Given the description of an element on the screen output the (x, y) to click on. 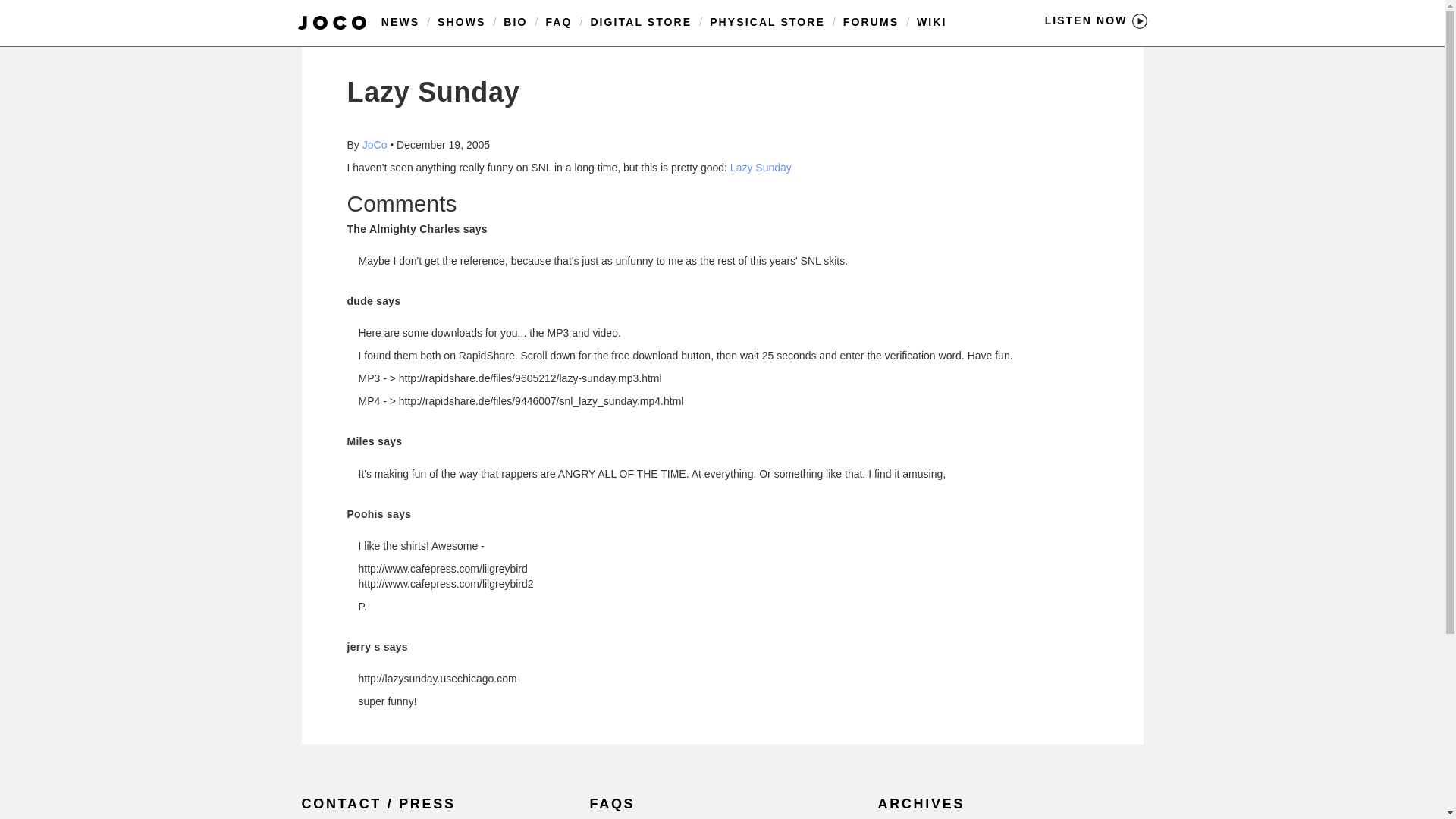
Lazy Sunday (761, 167)
FAQ (558, 21)
SHOWS (461, 21)
JoCo (374, 144)
BIO (515, 21)
LISTEN NOW (1096, 20)
WIKI (932, 21)
FORUMS (870, 21)
DIGITAL STORE (640, 21)
NEWS (400, 21)
PHYSICAL STORE (767, 21)
